Given the description of an element on the screen output the (x, y) to click on. 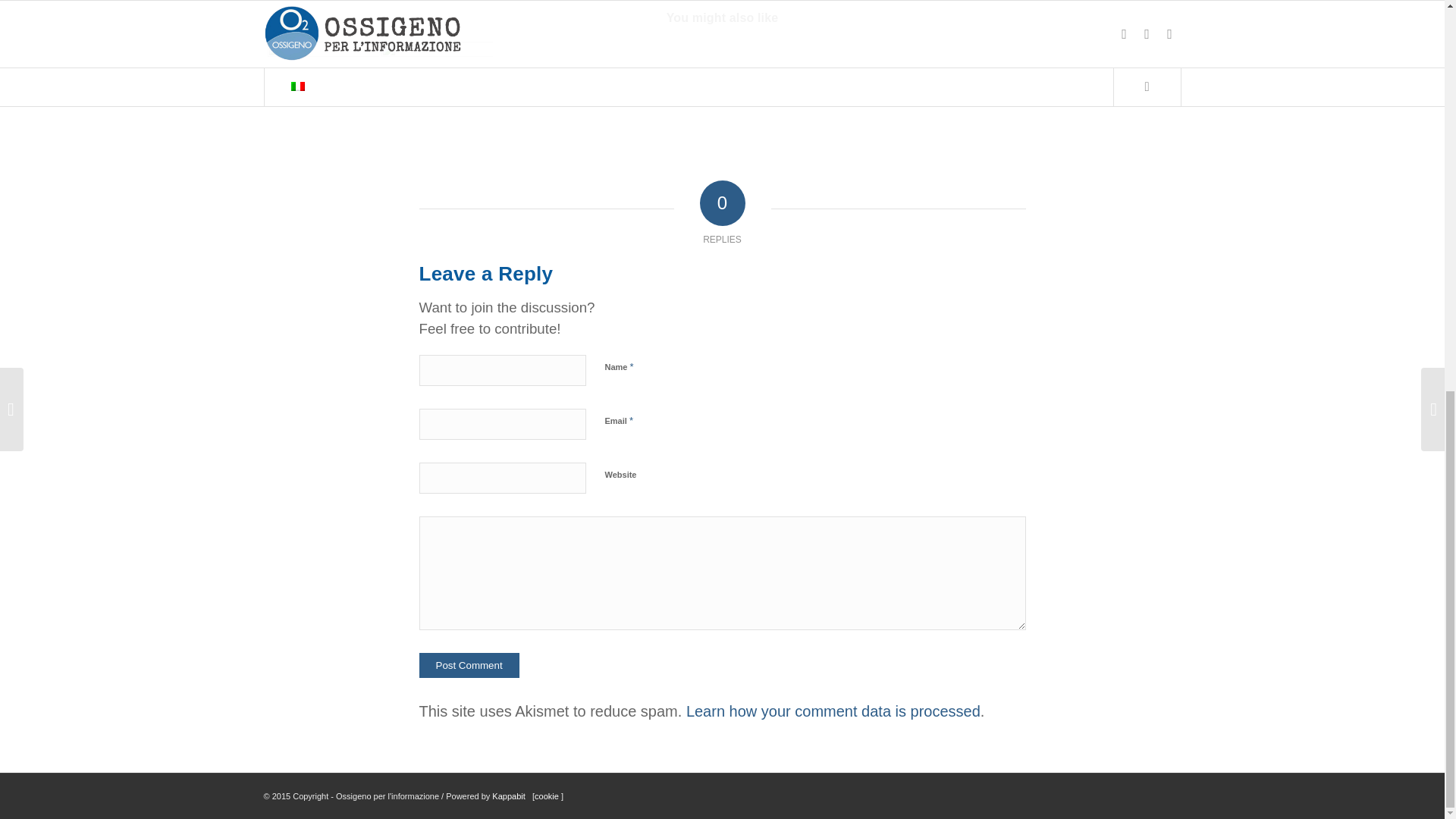
cookie (547, 795)
Post Comment (468, 665)
Post Comment (468, 665)
Learn how your comment data is processed (832, 710)
Kappabit (508, 795)
